Given the description of an element on the screen output the (x, y) to click on. 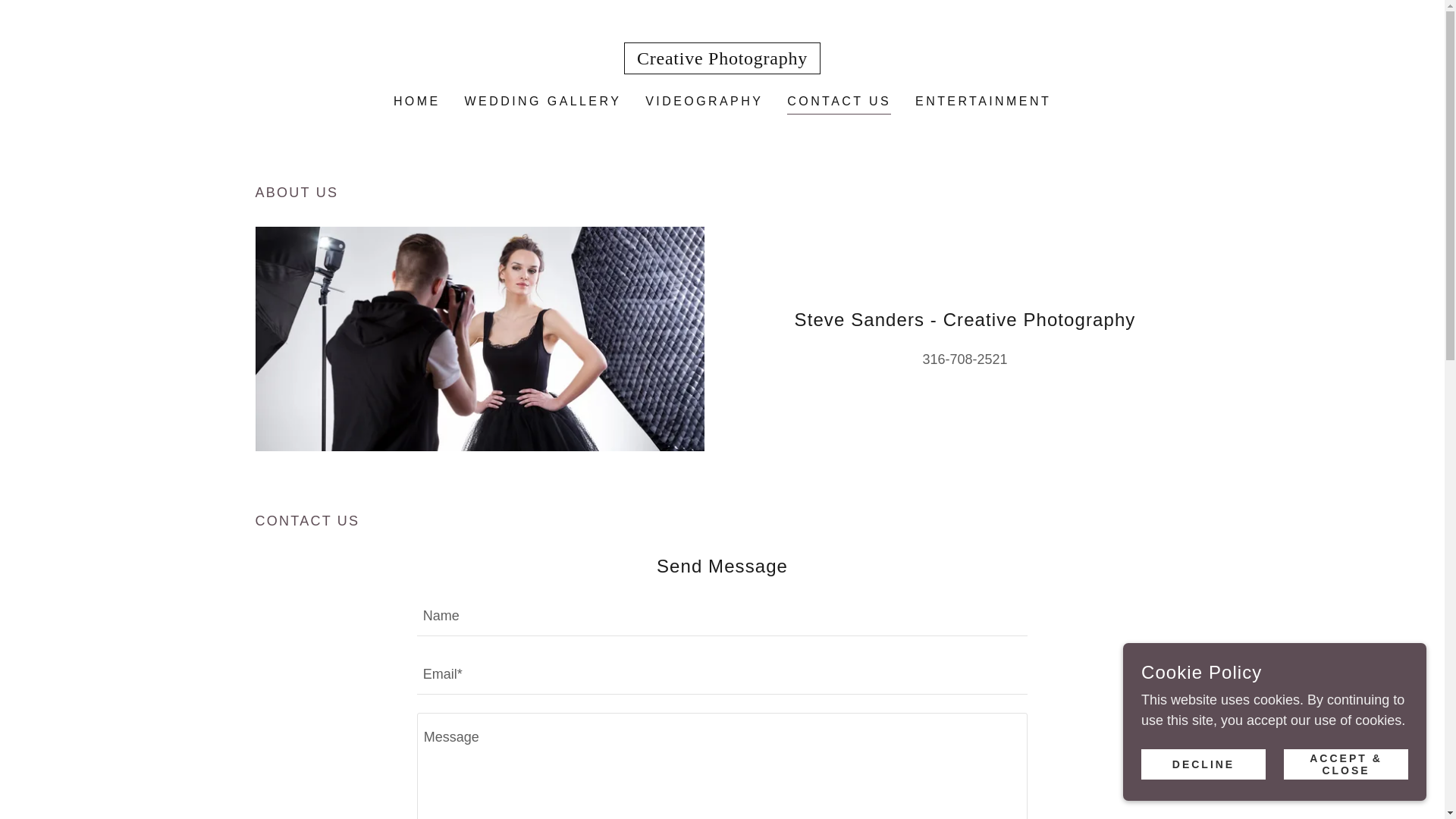
Creative Photography (722, 59)
HOME (416, 101)
WEDDING GALLERY (543, 101)
CONTACT US (839, 103)
ENTERTAINMENT (983, 101)
Creative Photography (722, 59)
VIDEOGRAPHY (703, 101)
DECLINE (1203, 764)
